Given the description of an element on the screen output the (x, y) to click on. 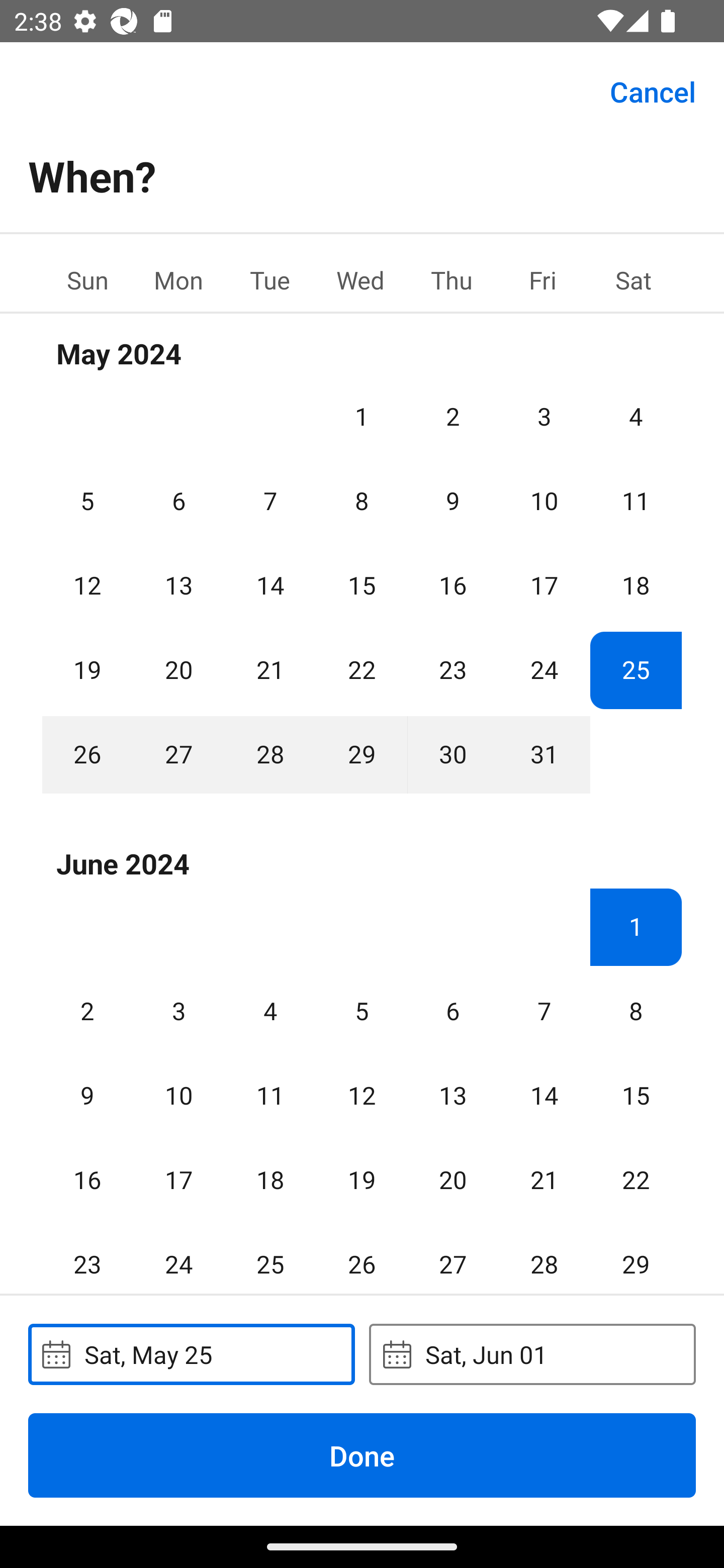
Cancel (652, 90)
Sat, May 25 (191, 1353)
Sat, Jun 01 (532, 1353)
Done (361, 1454)
